Given the description of an element on the screen output the (x, y) to click on. 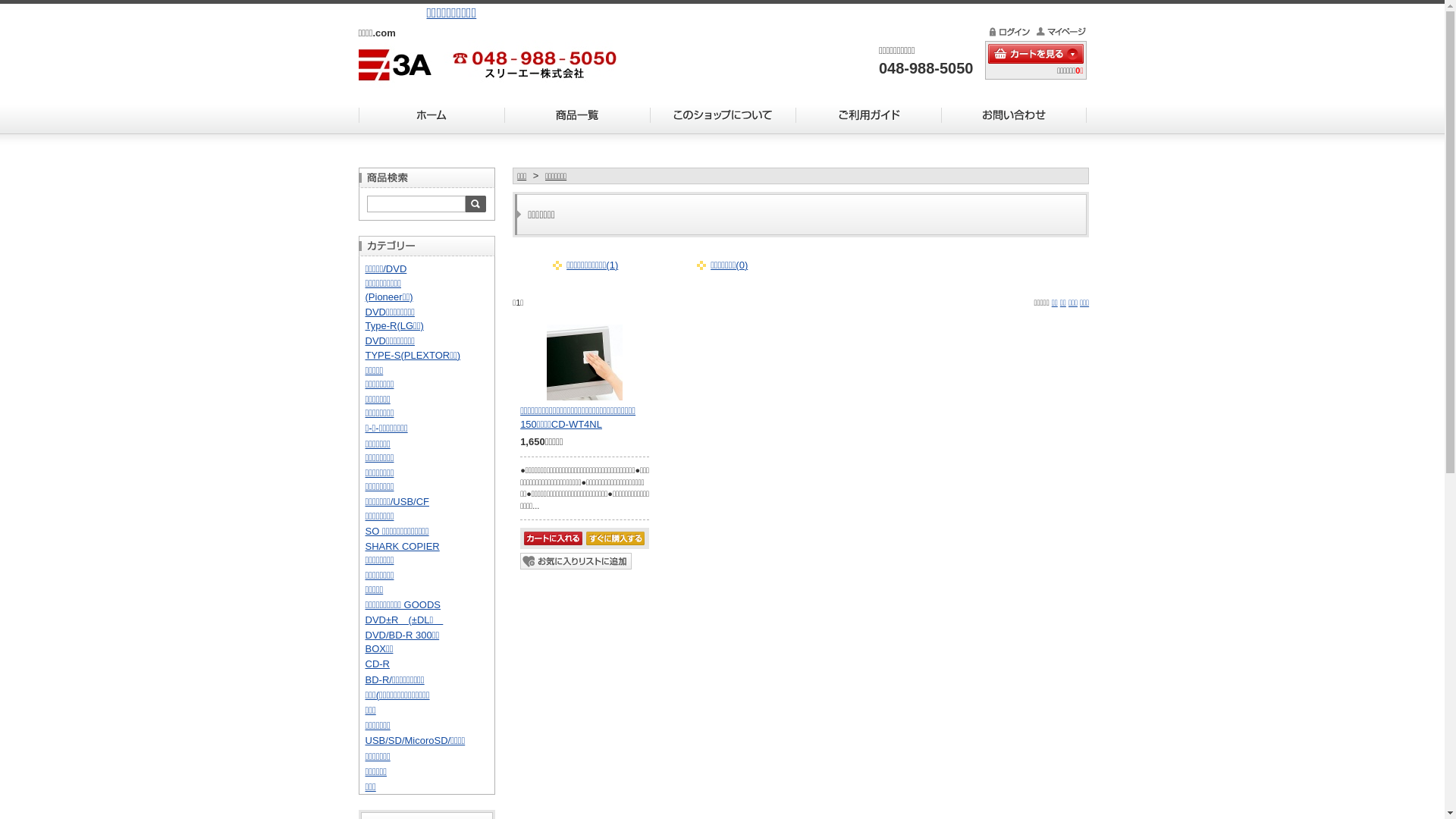
CD-R Element type: text (377, 663)
